Given the description of an element on the screen output the (x, y) to click on. 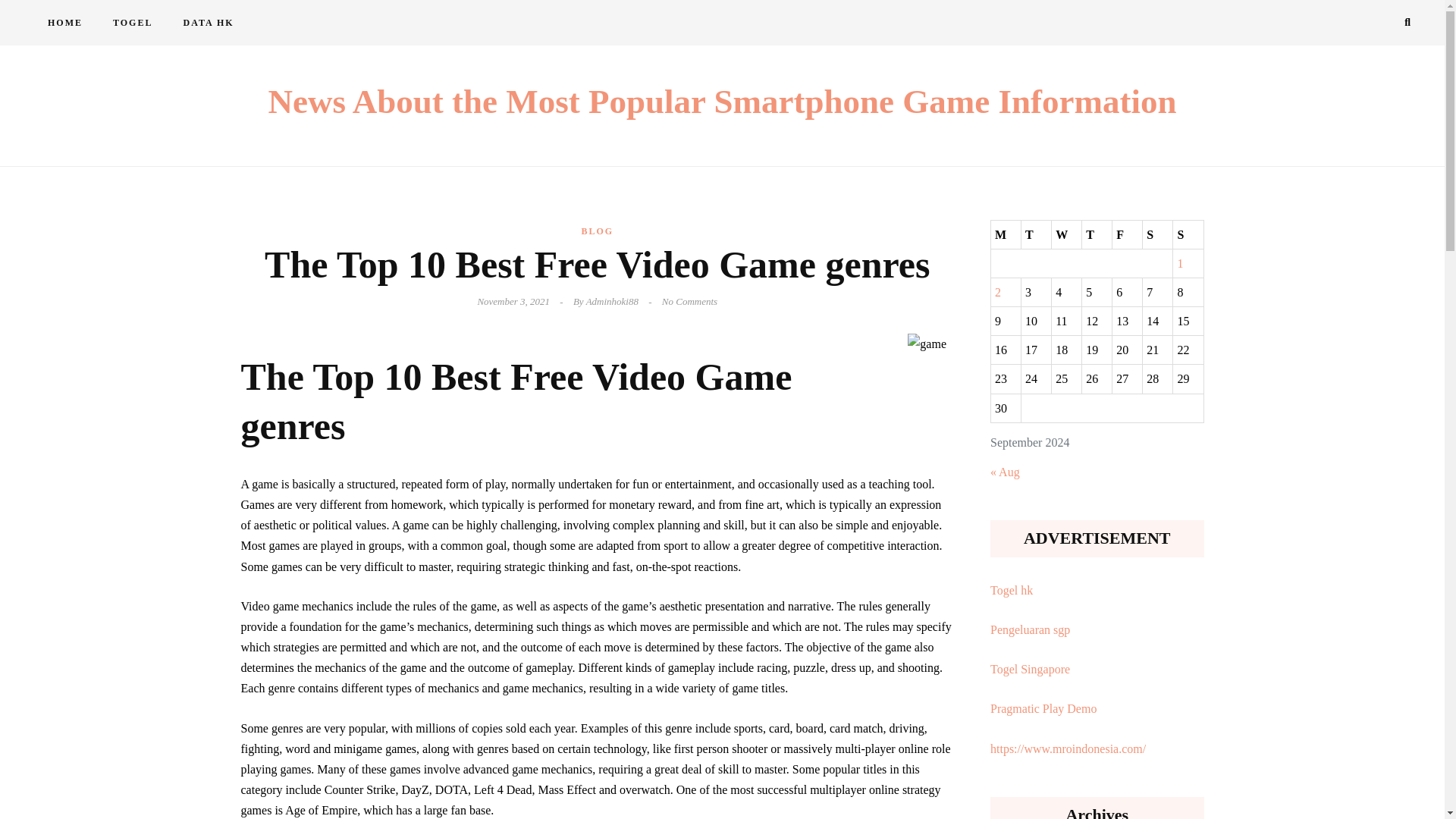
Togel hk (1011, 590)
Togel Singapore (1030, 668)
Pengeluaran sgp (1030, 629)
DATA HK (207, 22)
Monday (1005, 234)
Sunday (1188, 234)
Pragmatic Play Demo (1043, 707)
BLOG (596, 231)
Wednesday (1066, 234)
TOGEL (132, 22)
